Given the description of an element on the screen output the (x, y) to click on. 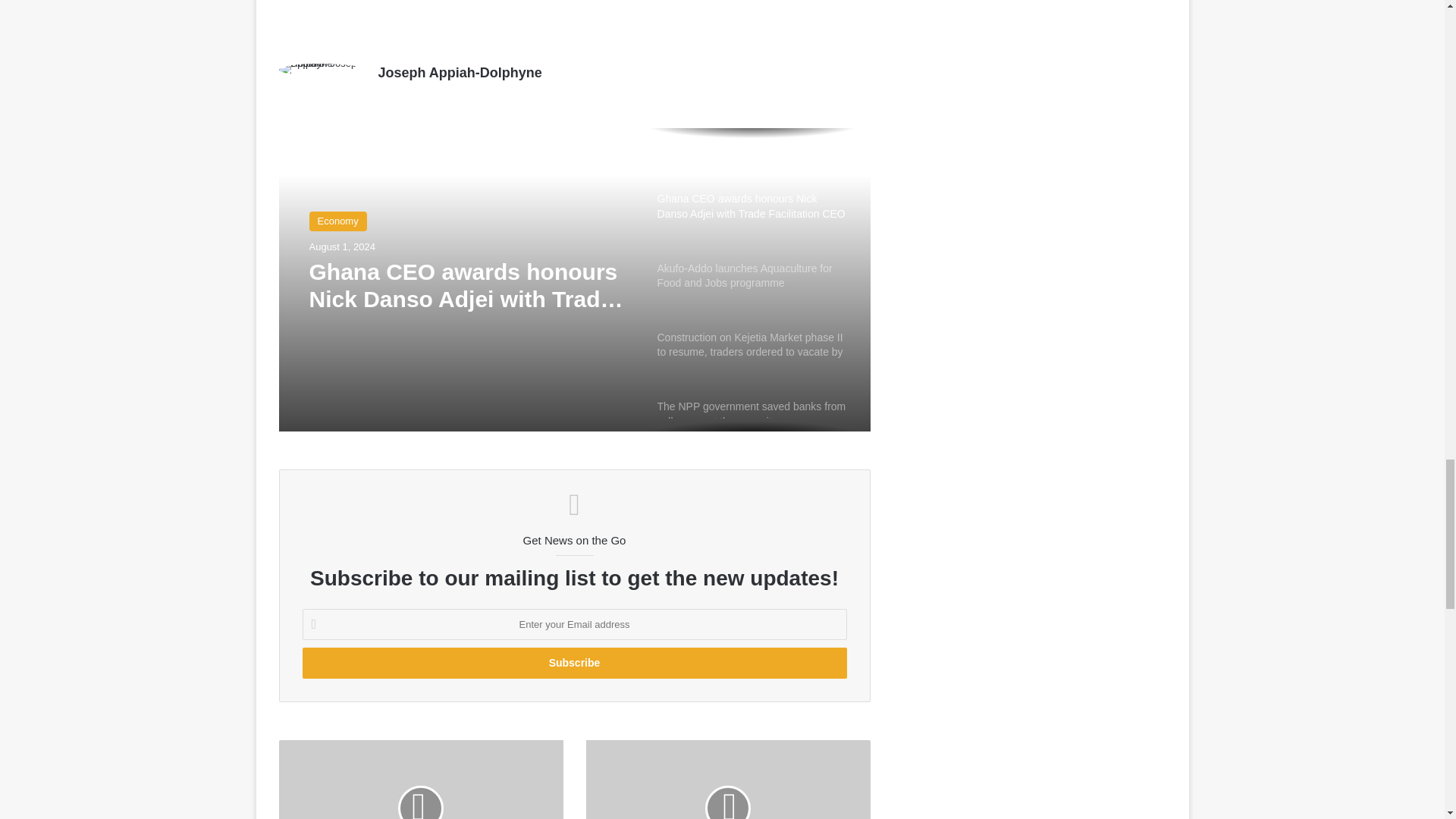
Subscribe (573, 662)
